Given the description of an element on the screen output the (x, y) to click on. 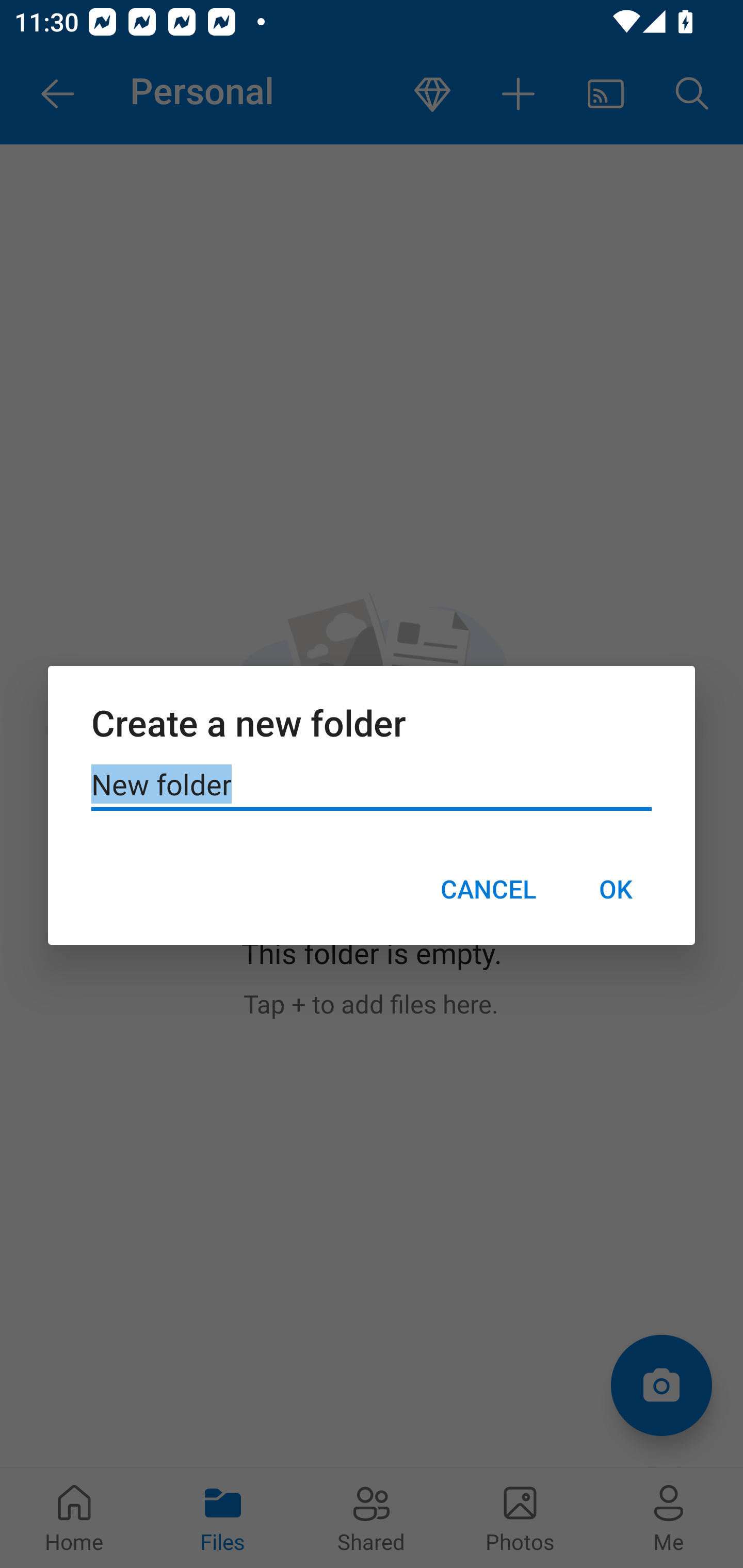
New folder (371, 784)
CANCEL (488, 888)
OK (615, 888)
